Given the description of an element on the screen output the (x, y) to click on. 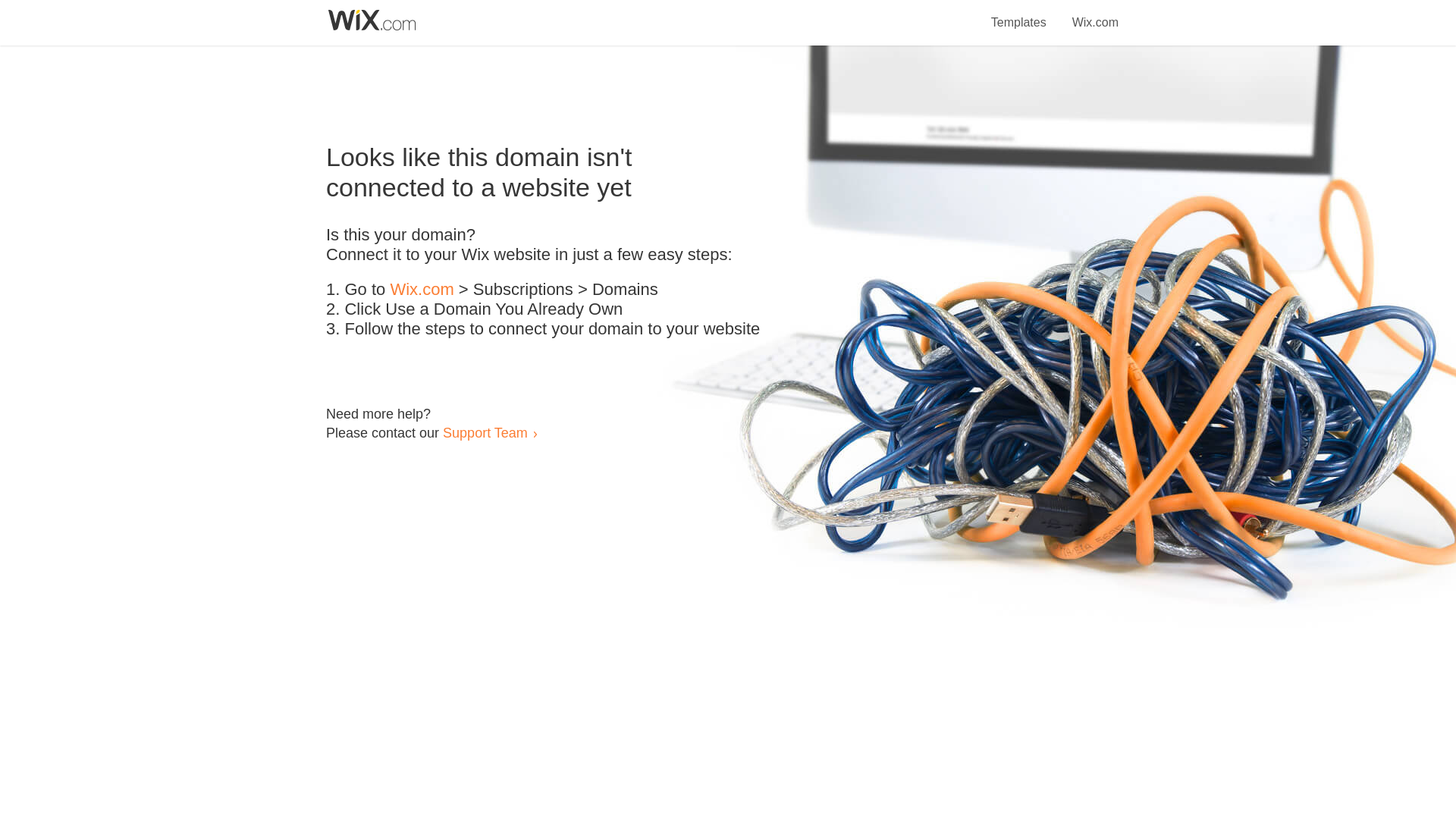
Wix.com (421, 289)
Wix.com (1095, 14)
Support Team (484, 432)
Templates (1018, 14)
